Given the description of an element on the screen output the (x, y) to click on. 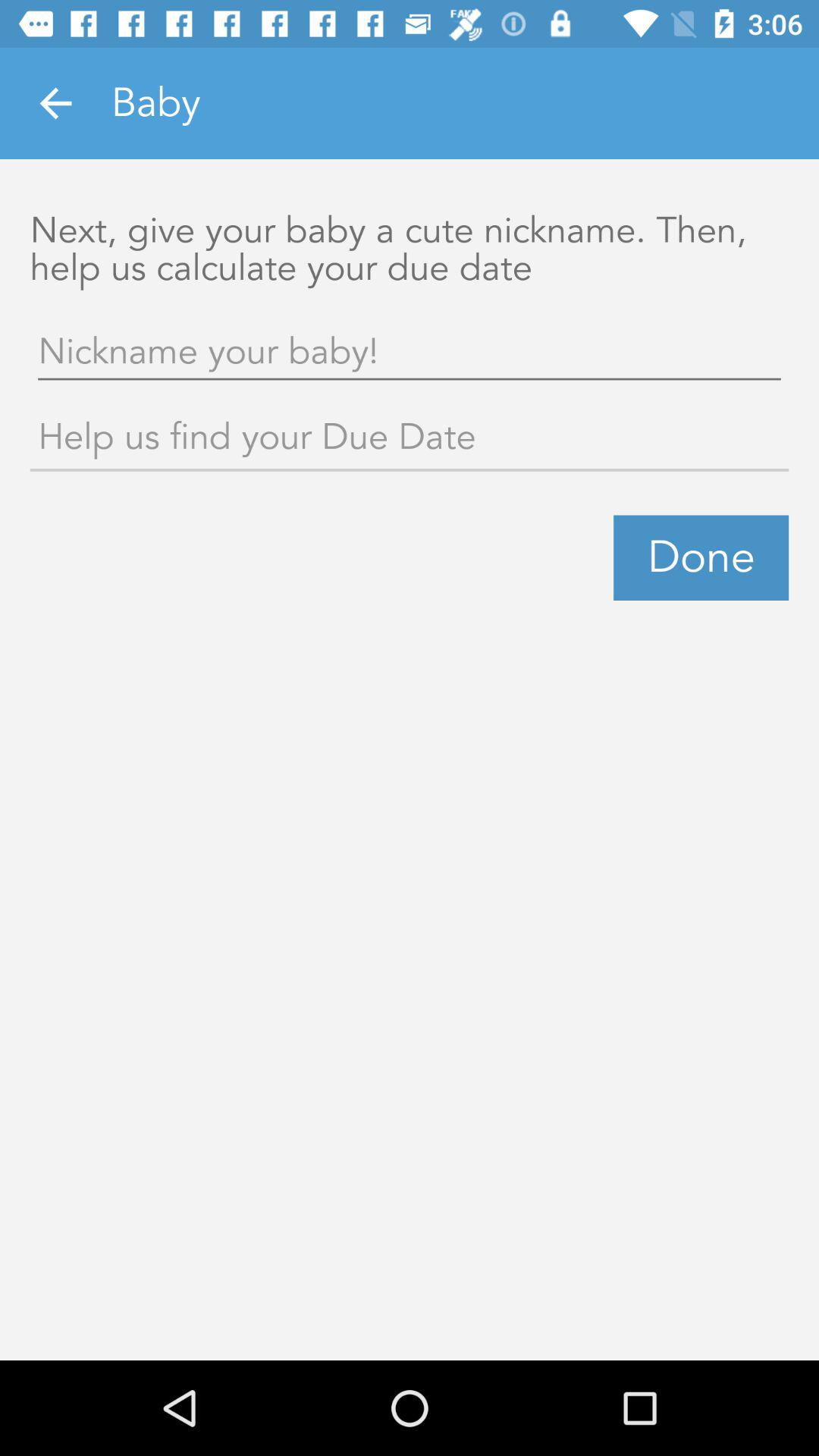
launch done icon (700, 557)
